Given the description of an element on the screen output the (x, y) to click on. 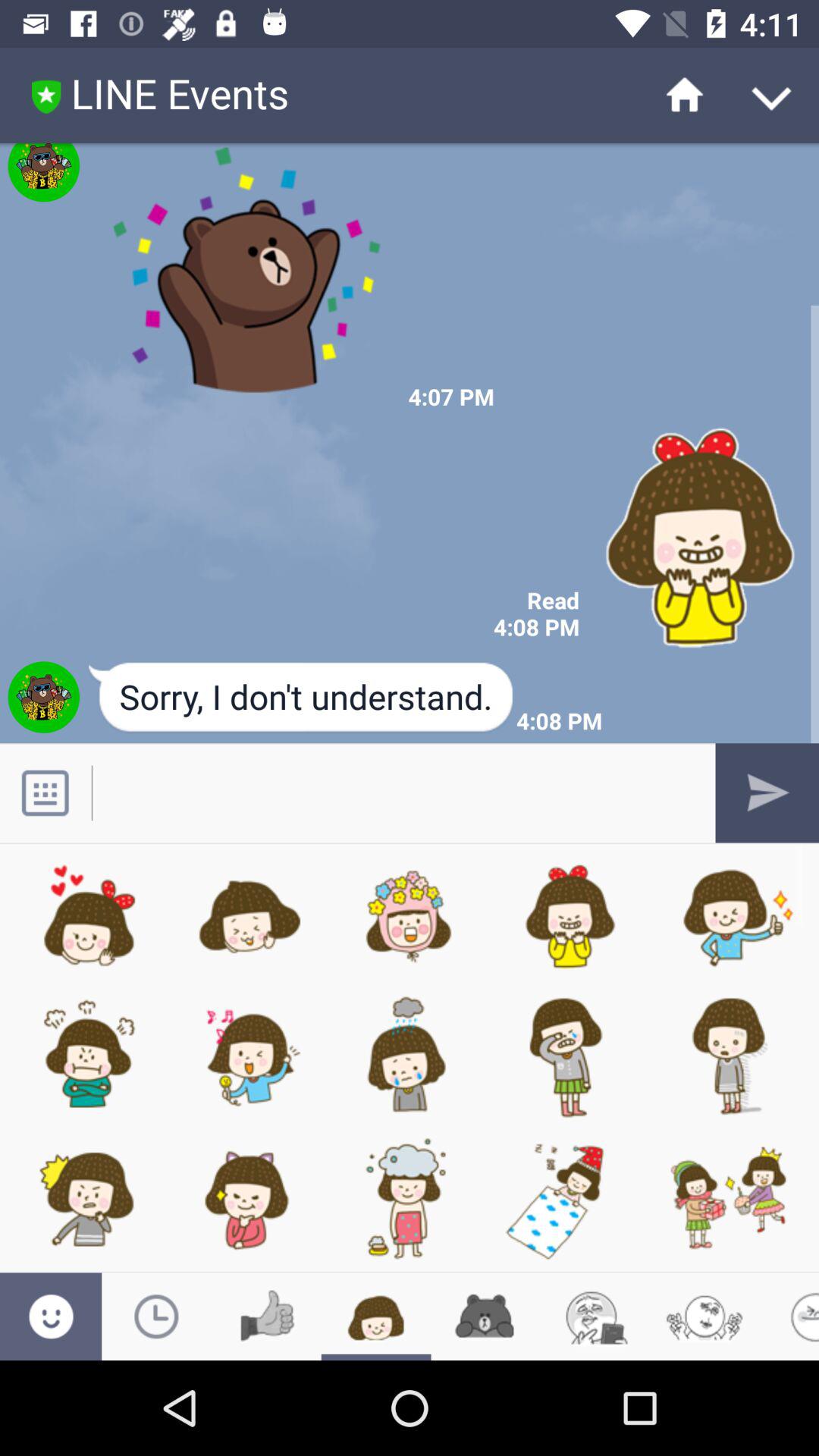
open sorry i don (301, 698)
